Given the description of an element on the screen output the (x, y) to click on. 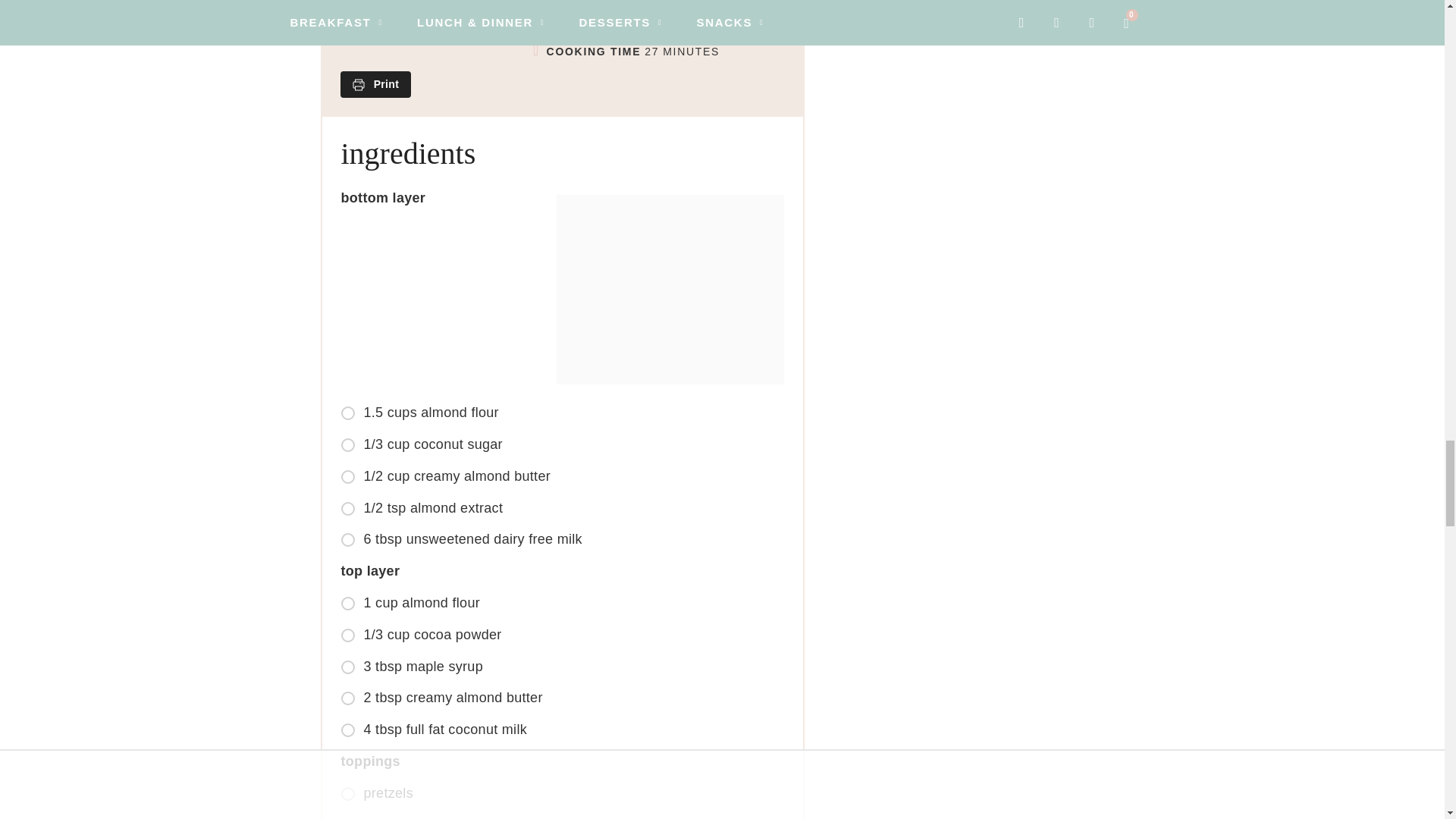
Print directions... (374, 84)
